Given the description of an element on the screen output the (x, y) to click on. 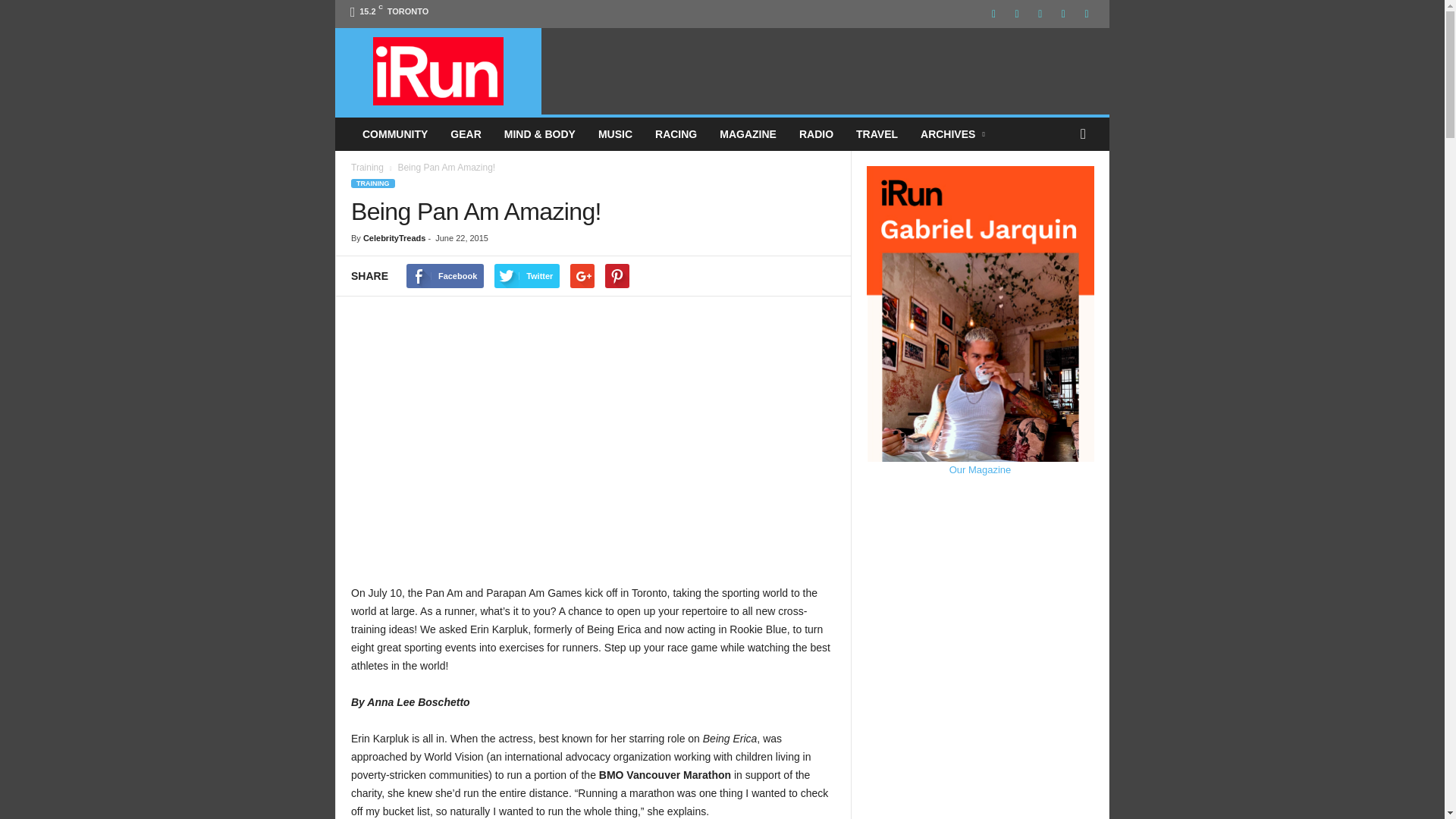
GEAR (465, 133)
RACING (675, 133)
COMMUNITY (394, 133)
RADIO (815, 133)
MAGAZINE (747, 133)
iRun.CA Magazine (437, 70)
iRun.ca (437, 70)
TRAVEL (876, 133)
MUSIC (614, 133)
ARCHIVES (953, 133)
